Given the description of an element on the screen output the (x, y) to click on. 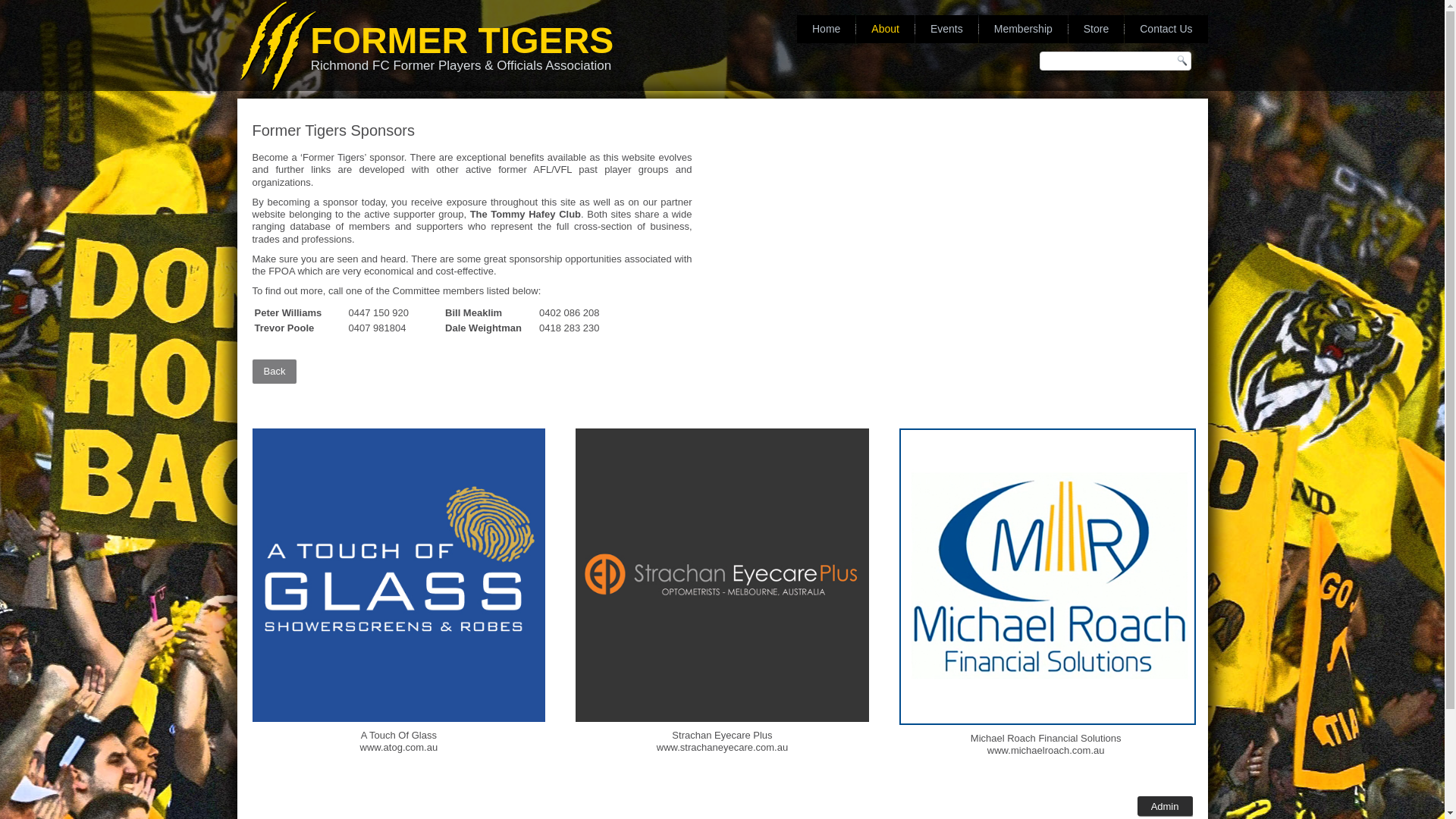
www.michaelroach.com.au Element type: text (1045, 750)
Events Element type: text (946, 29)
Store Element type: text (1095, 29)
Membership Element type: text (1023, 29)
www.strachaneyecare.com.au Element type: text (721, 747)
www.atog.com.au Element type: text (399, 747)
FORMER TIGERS Element type: text (461, 40)
About Element type: text (885, 29)
Back Element type: text (273, 371)
Contact Us Element type: text (1165, 29)
Home Element type: text (826, 29)
